Given the description of an element on the screen output the (x, y) to click on. 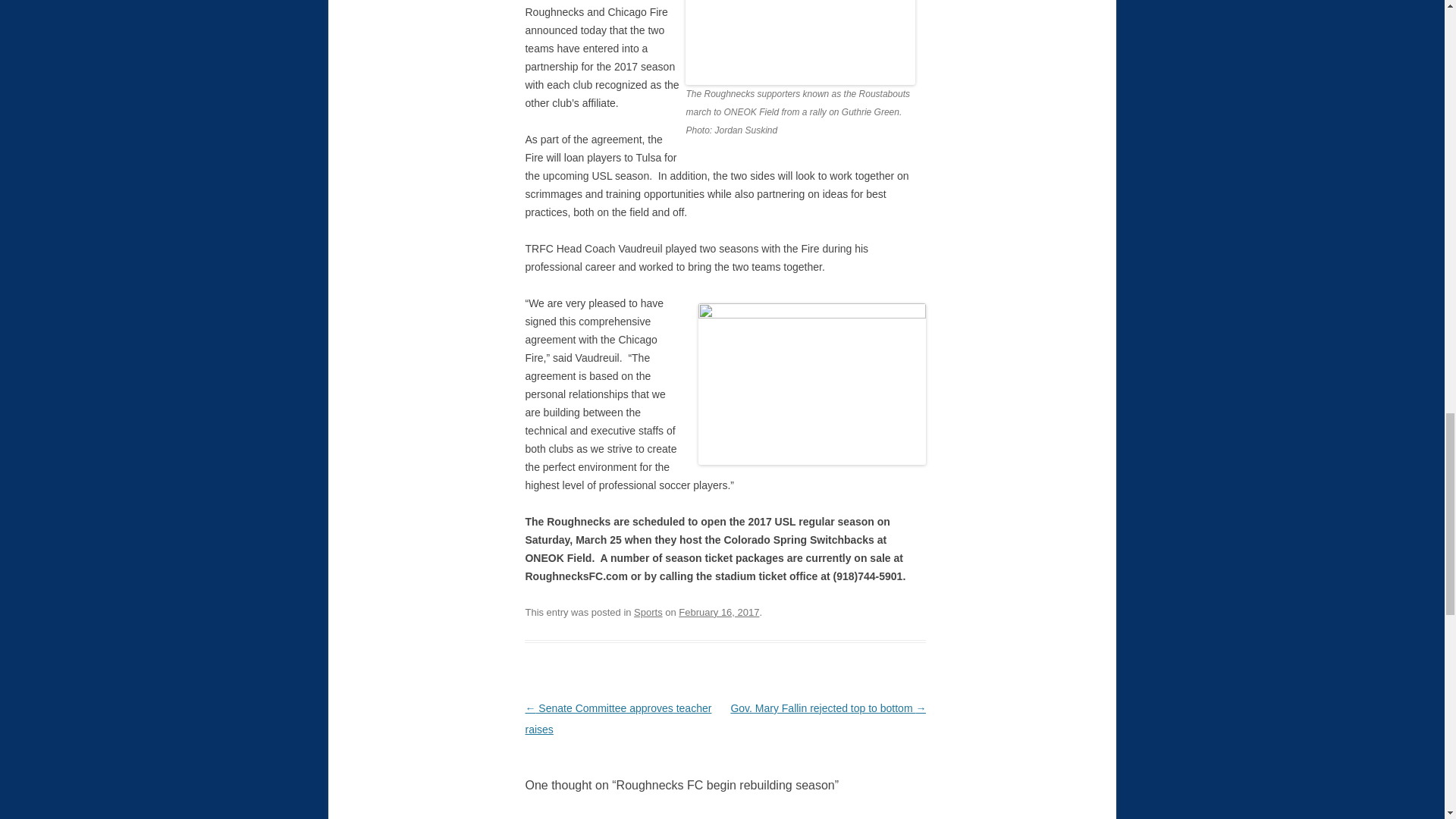
Sports (647, 612)
5:03 pm (718, 612)
February 16, 2017 (718, 612)
